Given the description of an element on the screen output the (x, y) to click on. 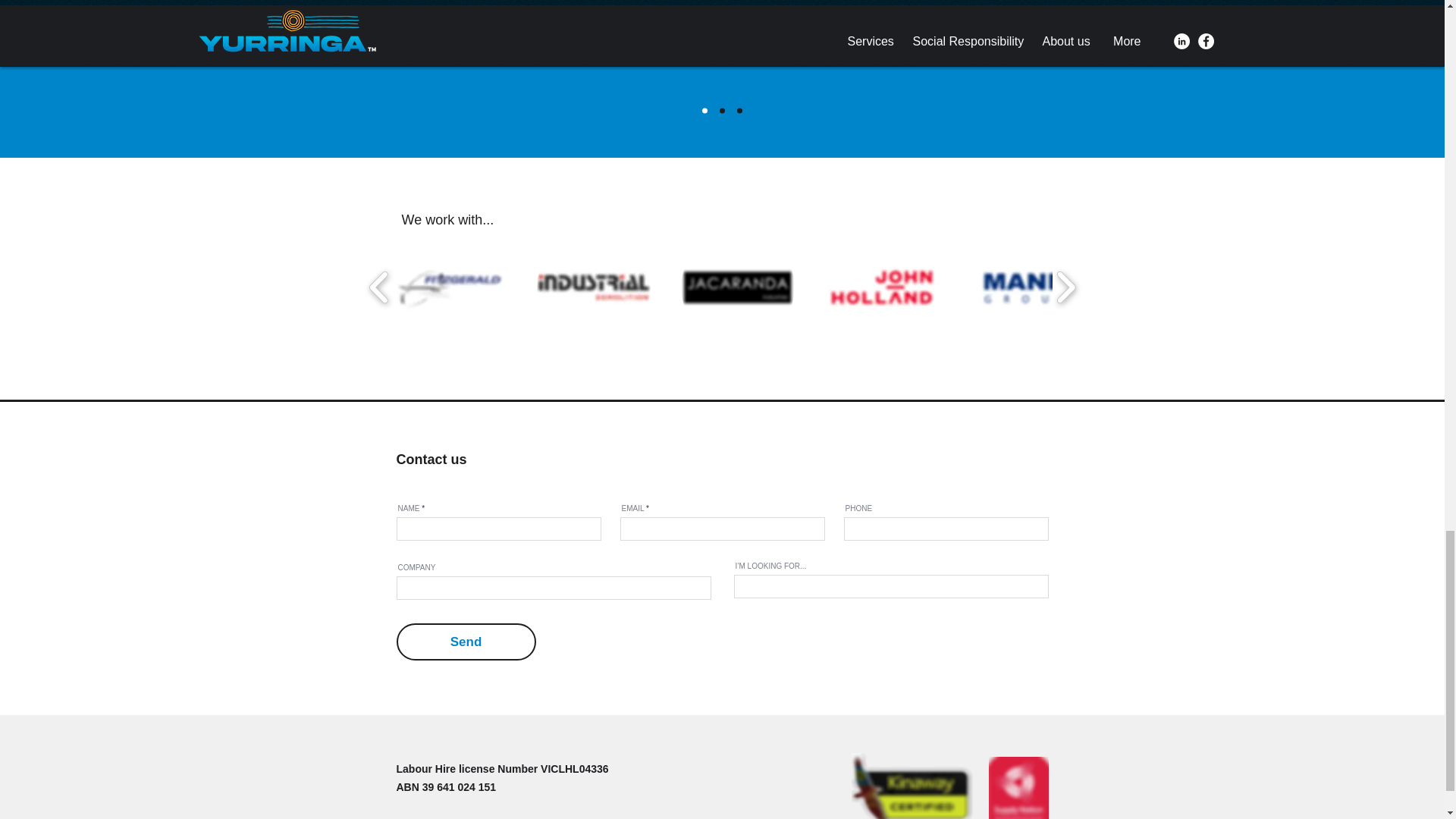
Send (465, 641)
